Given the description of an element on the screen output the (x, y) to click on. 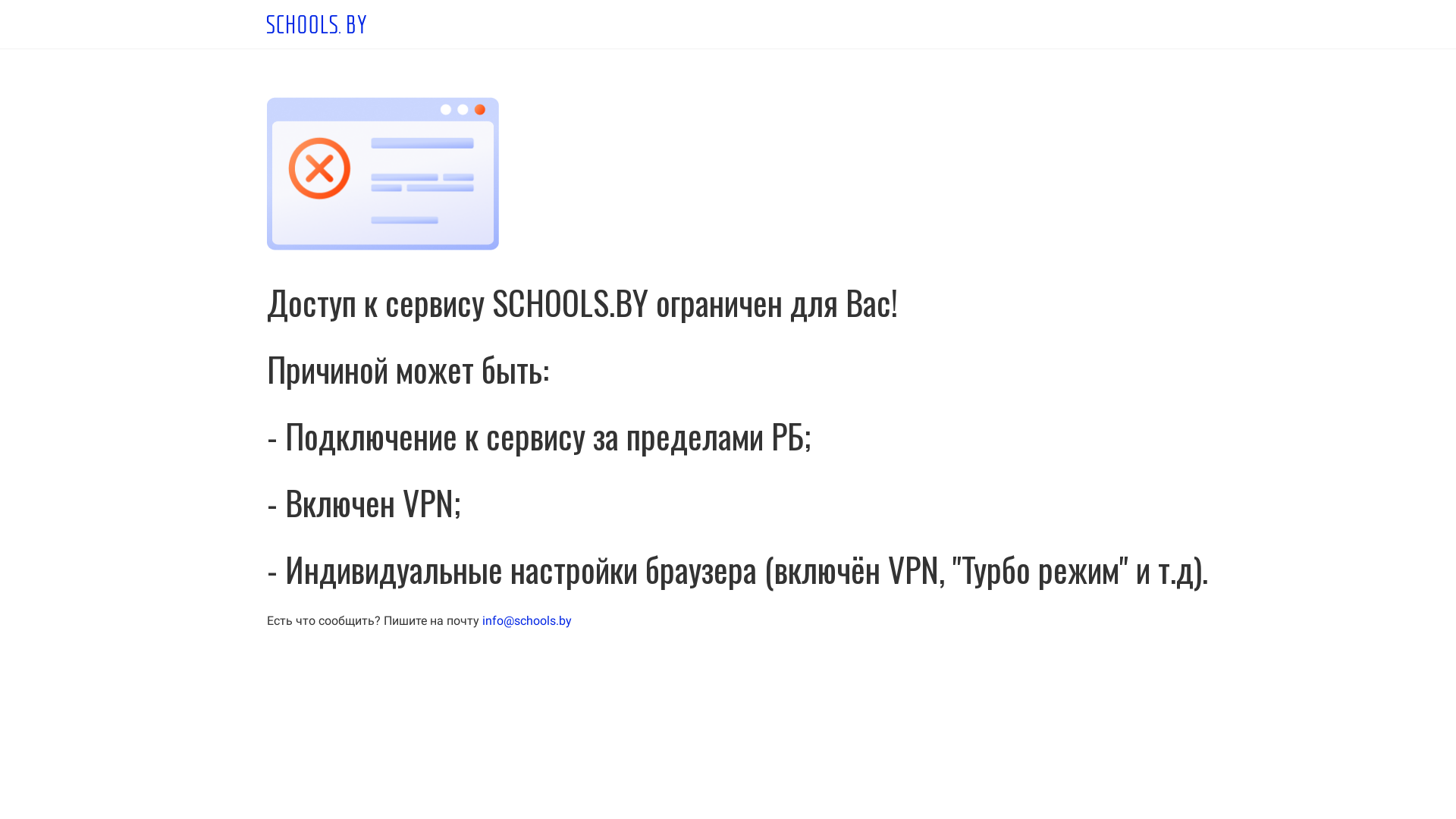
info@schools.by Element type: text (526, 620)
